Given the description of an element on the screen output the (x, y) to click on. 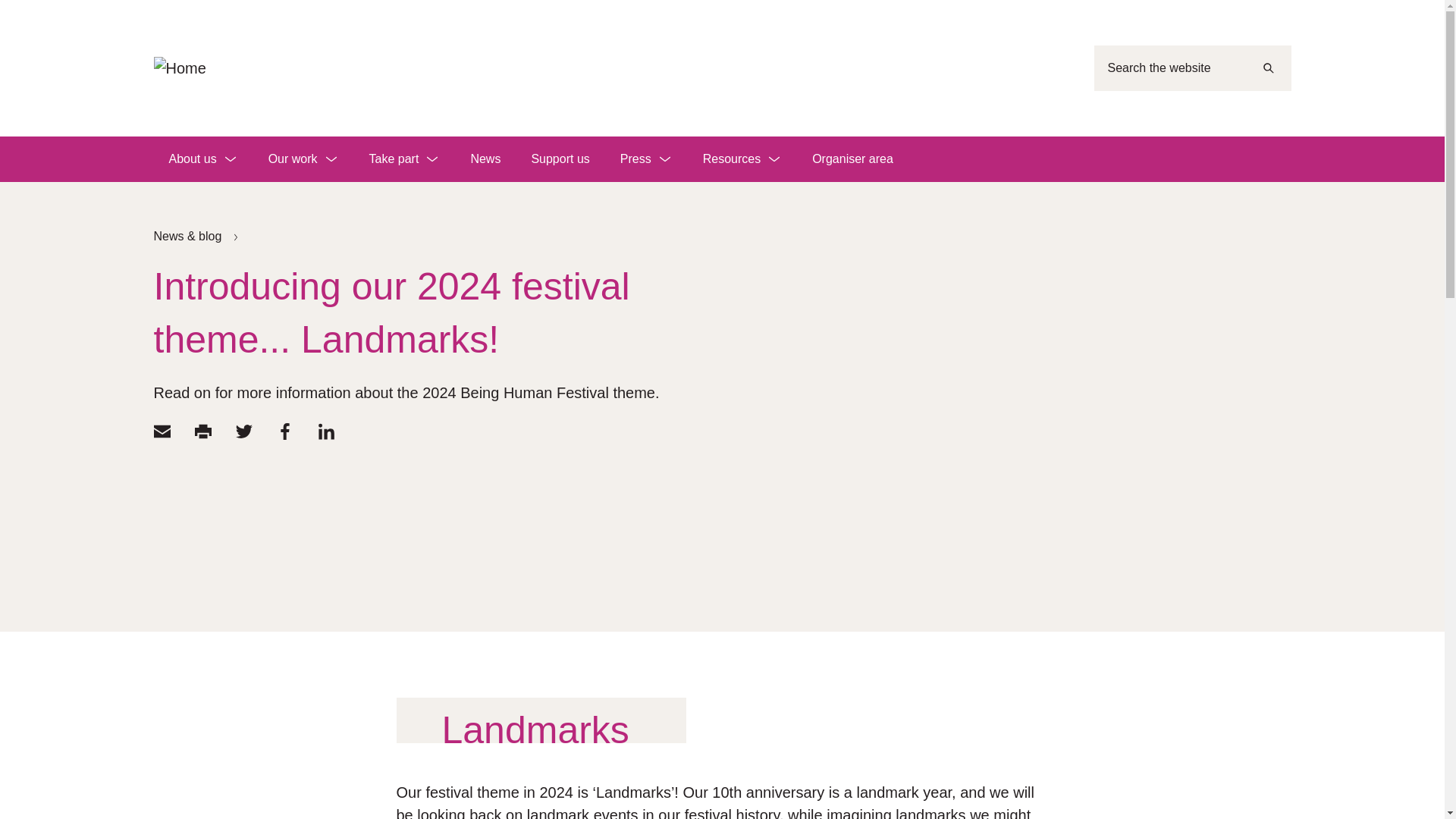
Our work (303, 158)
About us (201, 158)
Search (1267, 67)
Resources (741, 158)
News (484, 158)
Support us (559, 158)
Take part (404, 158)
Organiser area (852, 158)
Press (646, 158)
